Given the description of an element on the screen output the (x, y) to click on. 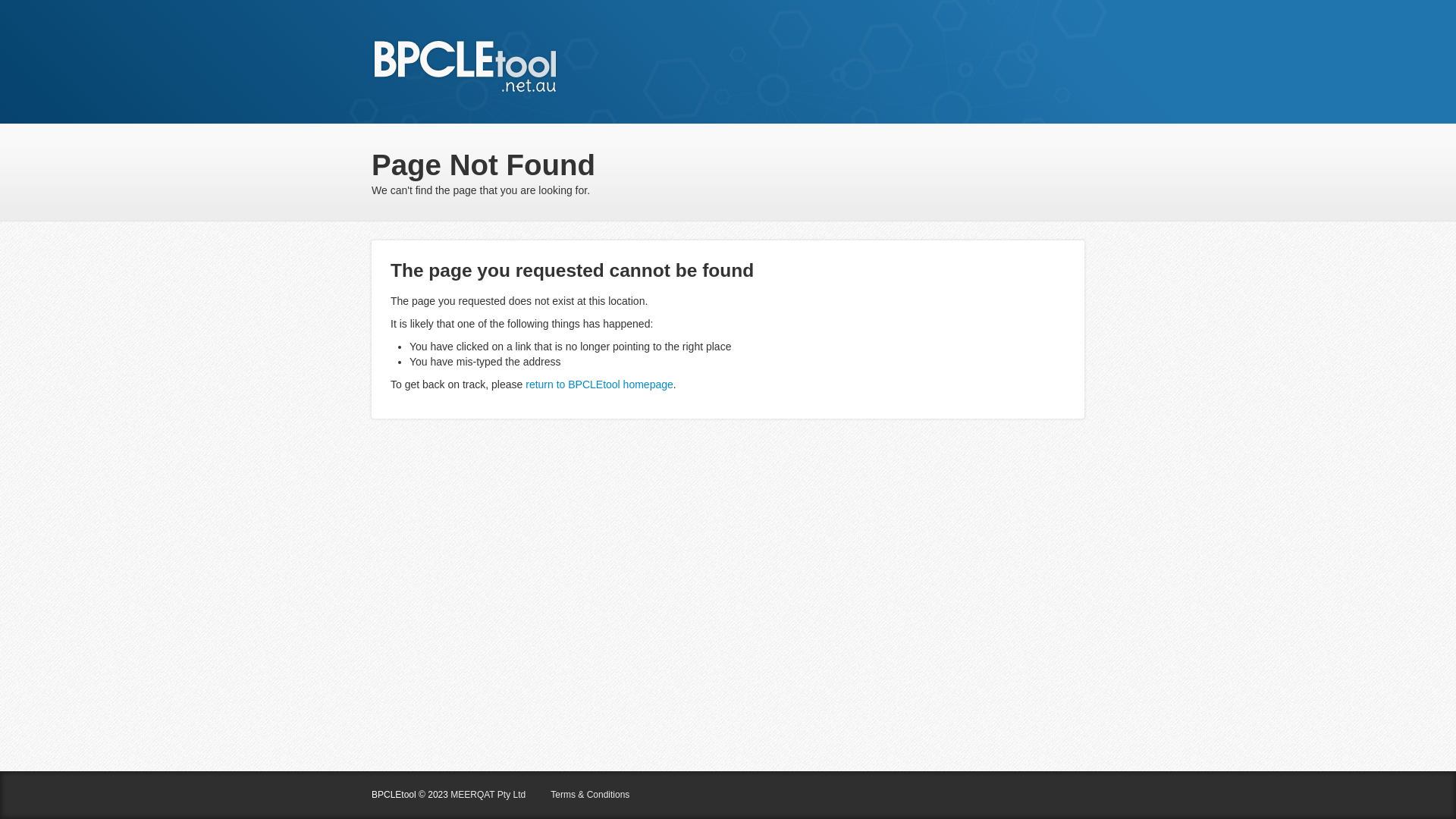
Terms & Conditions Element type: text (589, 794)
return to BPCLEtool homepage Element type: text (599, 384)
MEERQAT Pty Ltd Element type: text (487, 794)
